Given the description of an element on the screen output the (x, y) to click on. 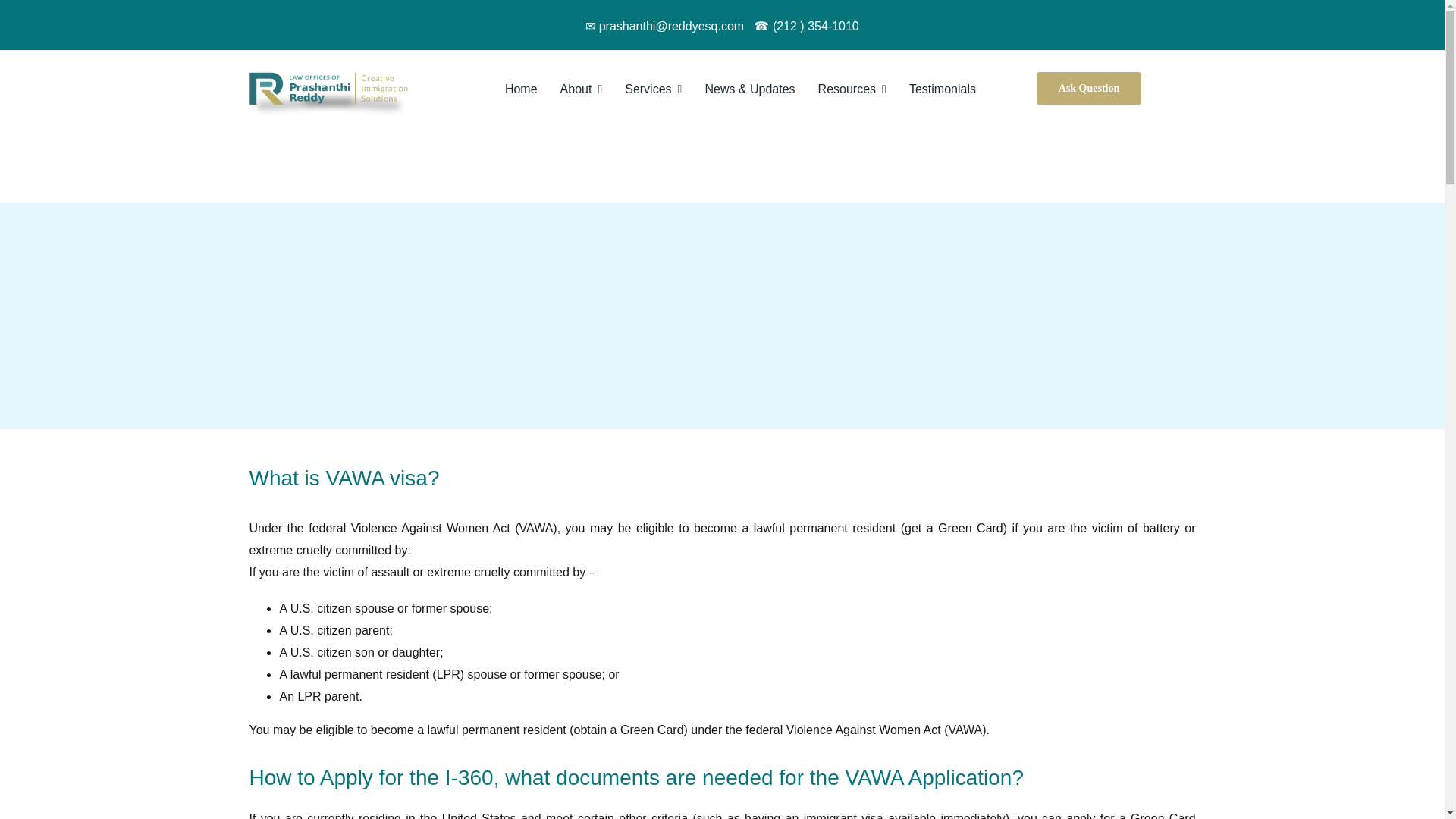
Testimonials (953, 88)
Ask Question (1088, 88)
Services (664, 88)
Resources (863, 88)
